Given the description of an element on the screen output the (x, y) to click on. 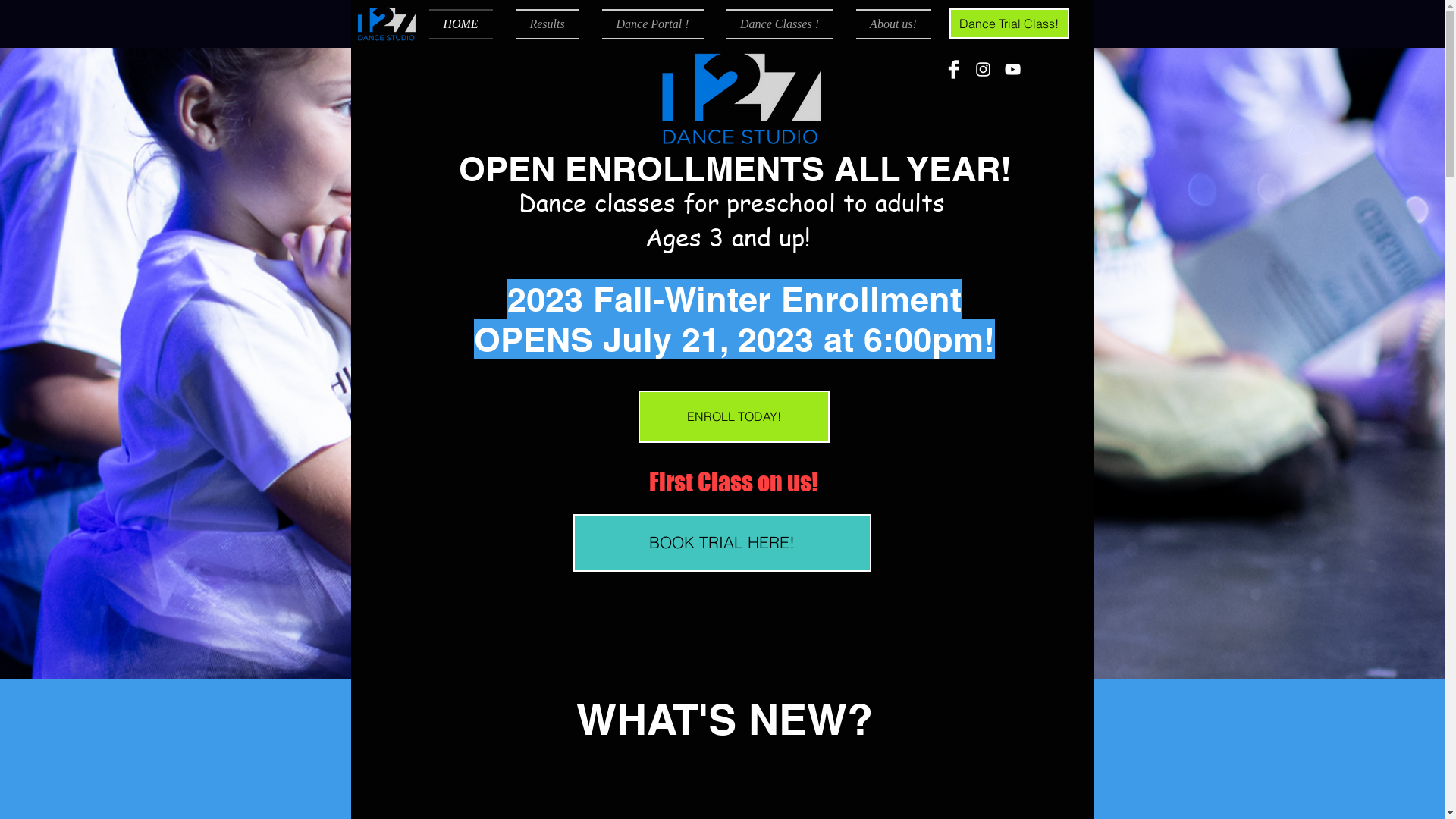
Results Element type: text (546, 24)
About us! Element type: text (887, 24)
fb verification Element type: hover (443, 123)
Dance Trial Class! Element type: text (1009, 23)
HOME Element type: text (466, 24)
BOOK TRIAL HERE! Element type: text (722, 542)
Dance Classes ! Element type: text (779, 24)
Facebook Verification Element type: hover (716, 199)
ENROLL TODAY! Element type: text (733, 416)
Dance Portal ! Element type: text (651, 24)
